Given the description of an element on the screen output the (x, y) to click on. 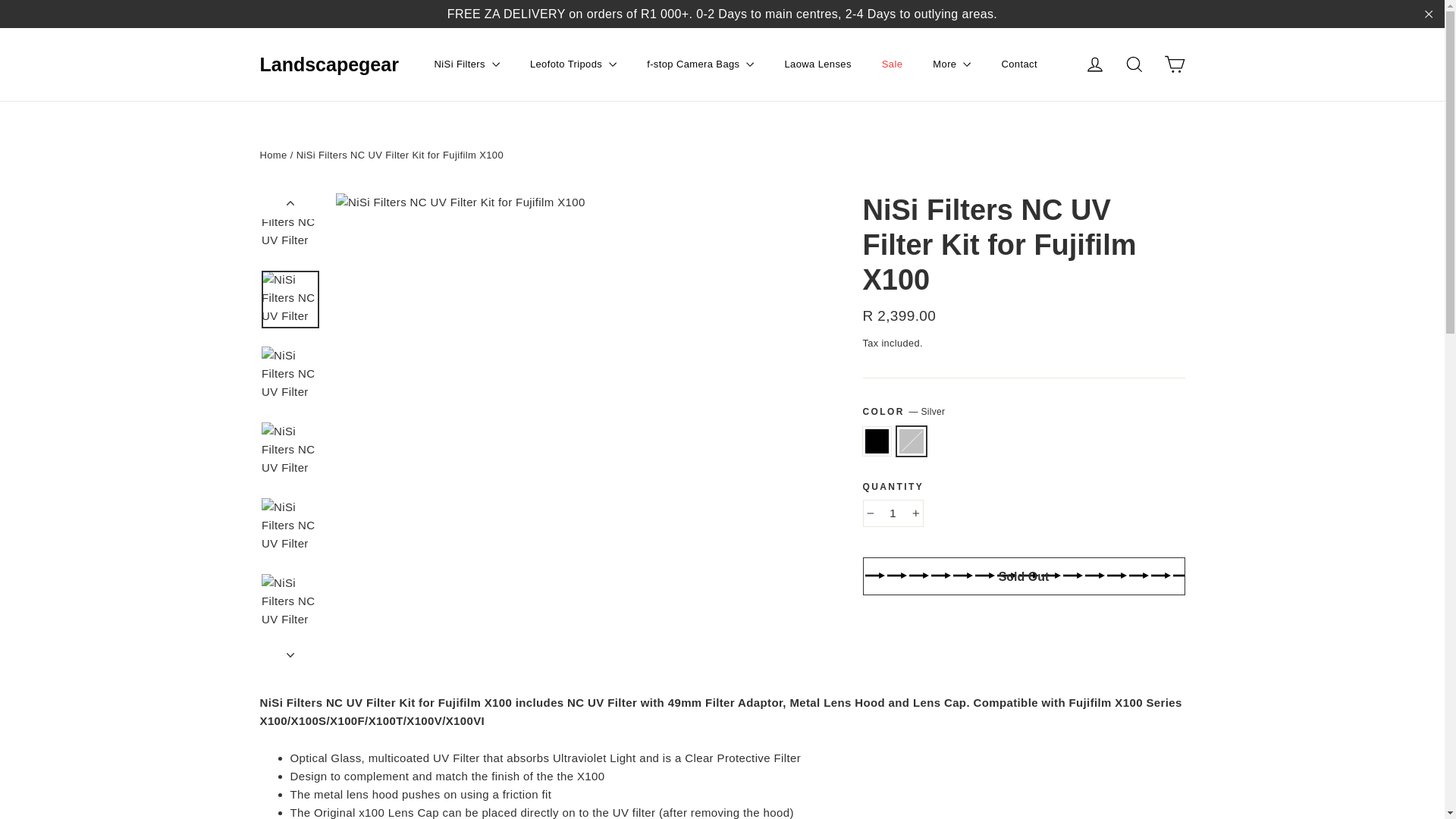
1 (893, 513)
Back to the frontpage (272, 154)
